Given the description of an element on the screen output the (x, y) to click on. 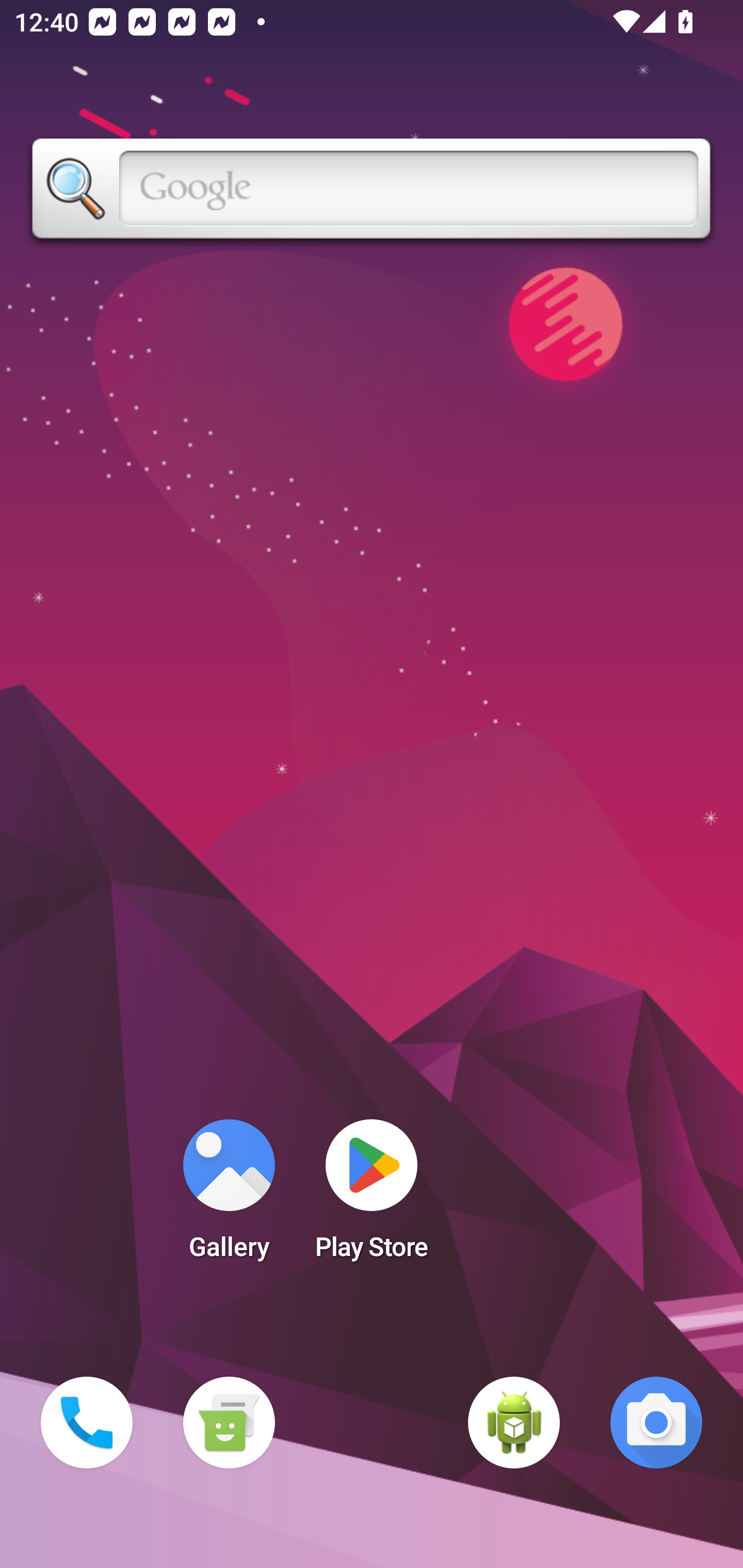
Gallery (228, 1195)
Play Store (371, 1195)
Phone (86, 1422)
Messaging (228, 1422)
WebView Browser Tester (513, 1422)
Camera (656, 1422)
